Given the description of an element on the screen output the (x, y) to click on. 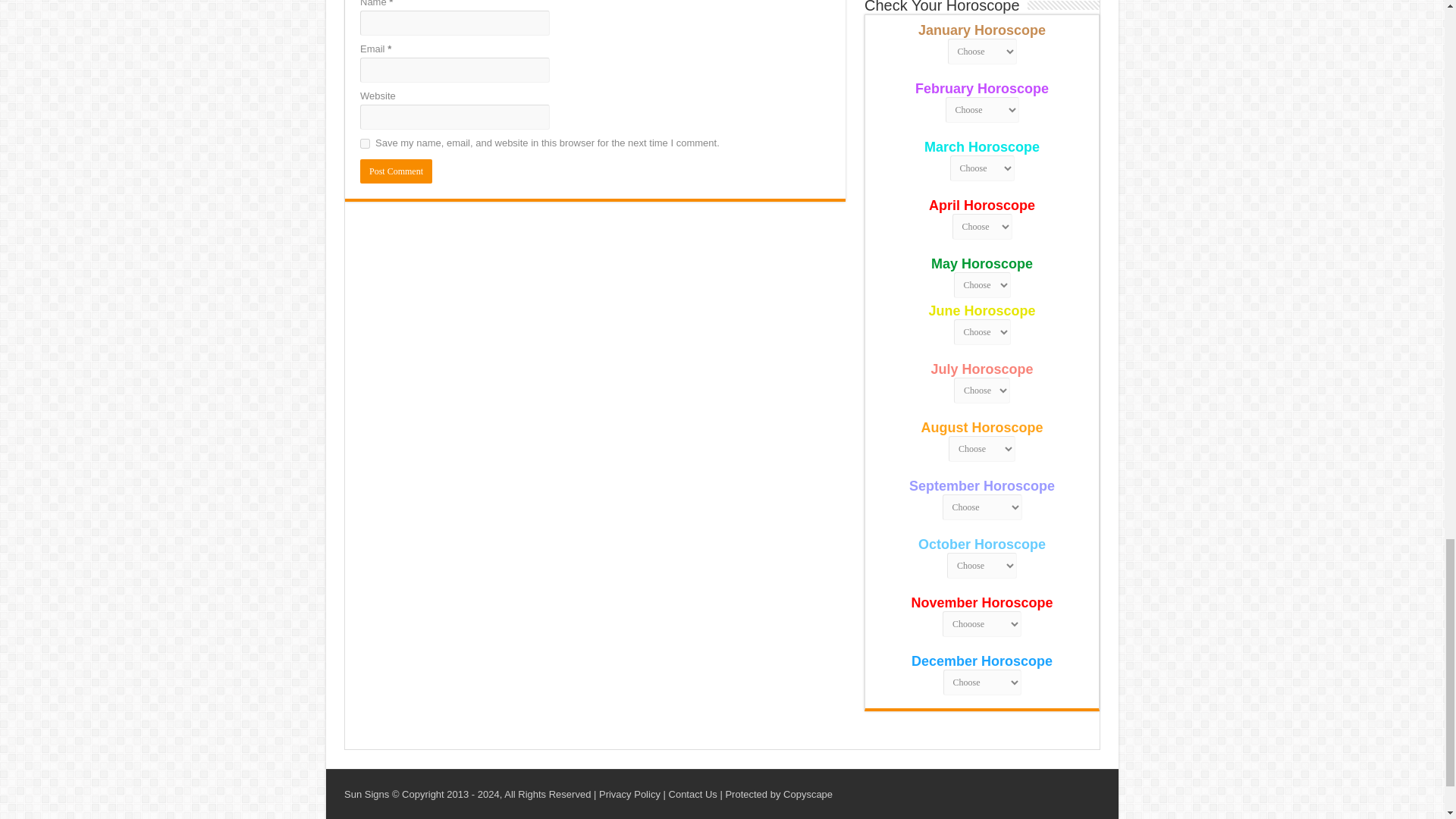
Post Comment (395, 170)
Post Comment (395, 170)
yes (364, 143)
